Given the description of an element on the screen output the (x, y) to click on. 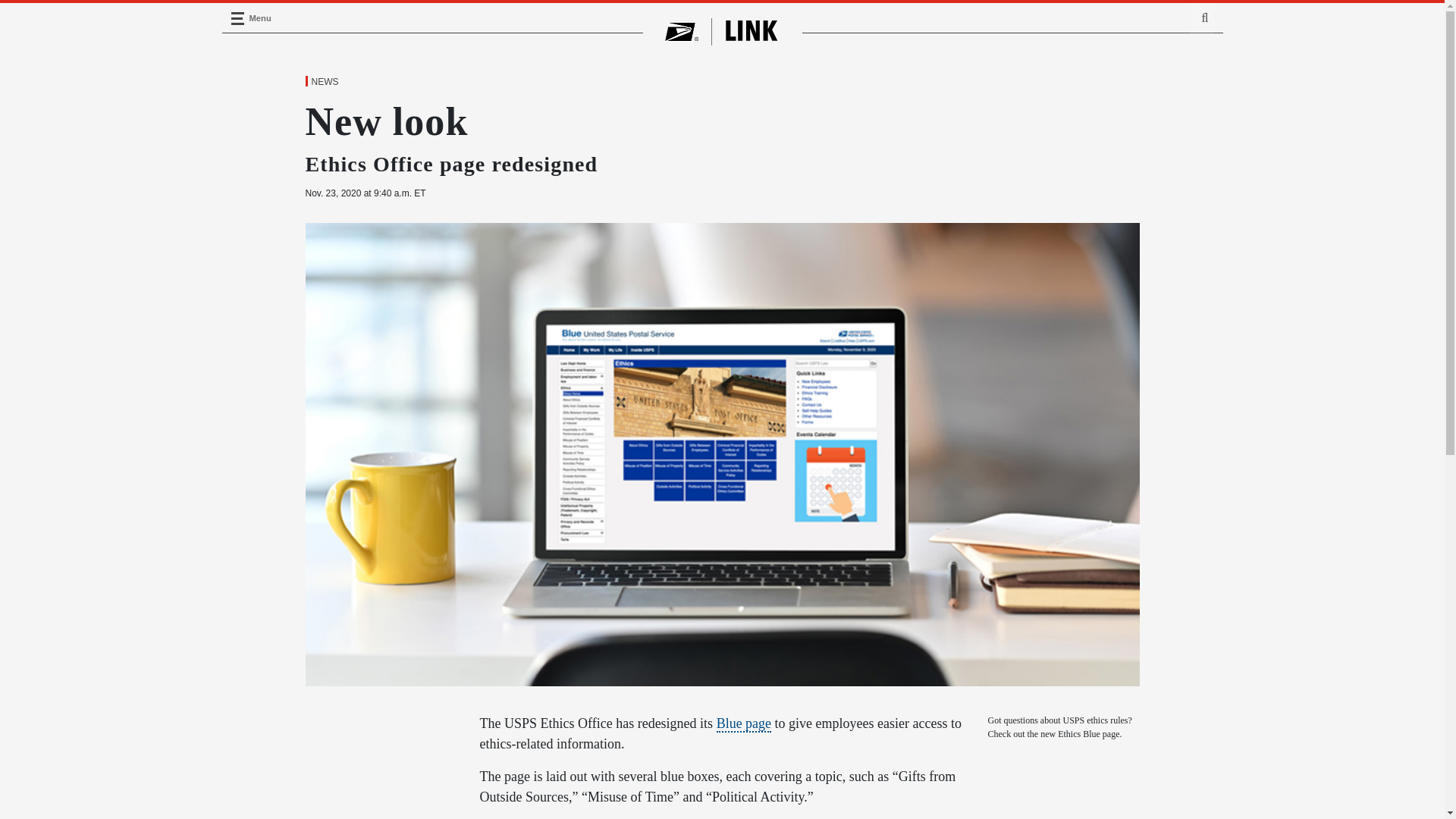
Menu (237, 18)
NEWS (323, 81)
Blue page (743, 723)
